Given the description of an element on the screen output the (x, y) to click on. 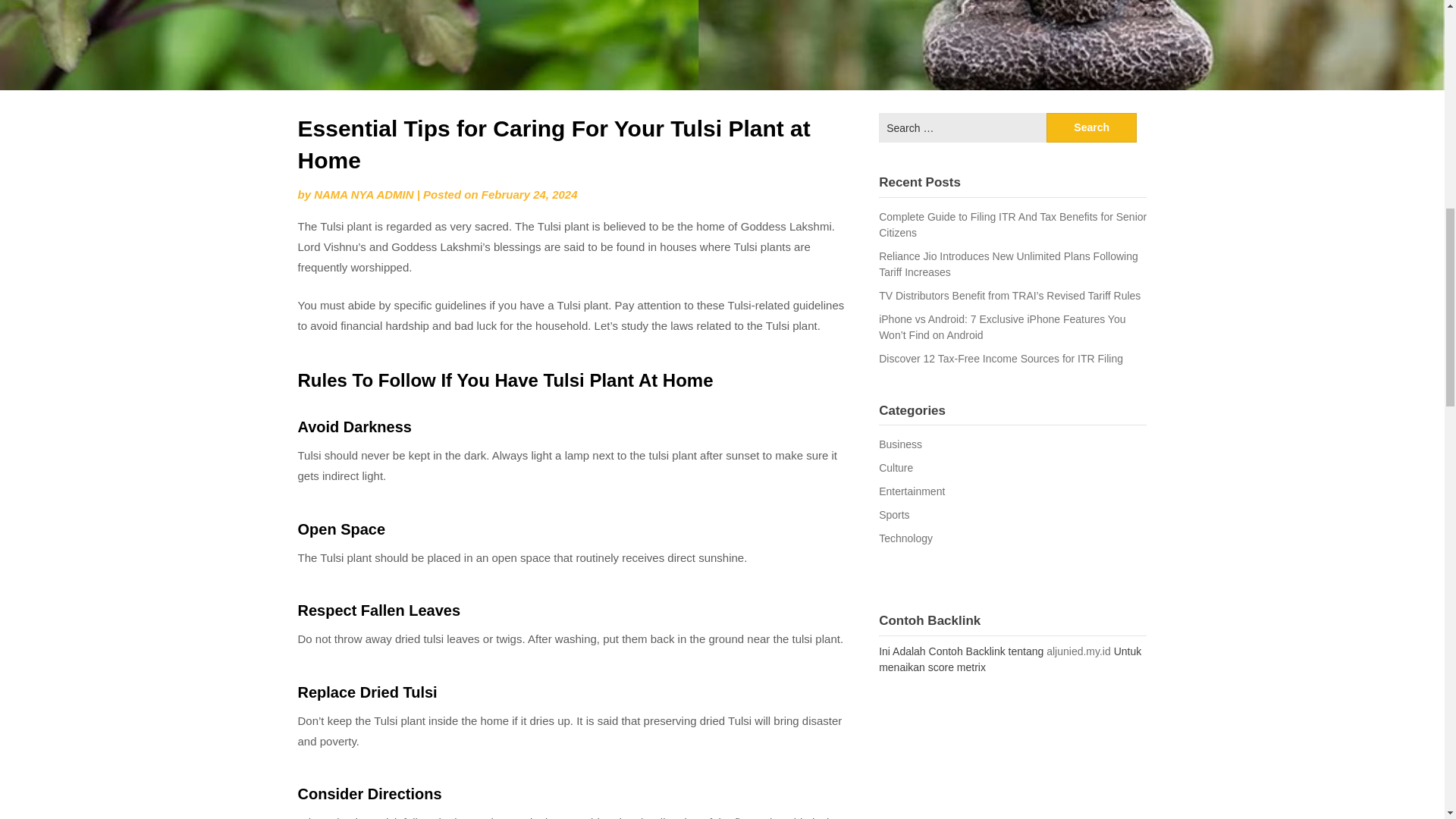
NAMA NYA ADMIN (363, 194)
Search (1091, 127)
February 24, 2024 (529, 194)
Search (1091, 127)
Search (1091, 127)
